Given the description of an element on the screen output the (x, y) to click on. 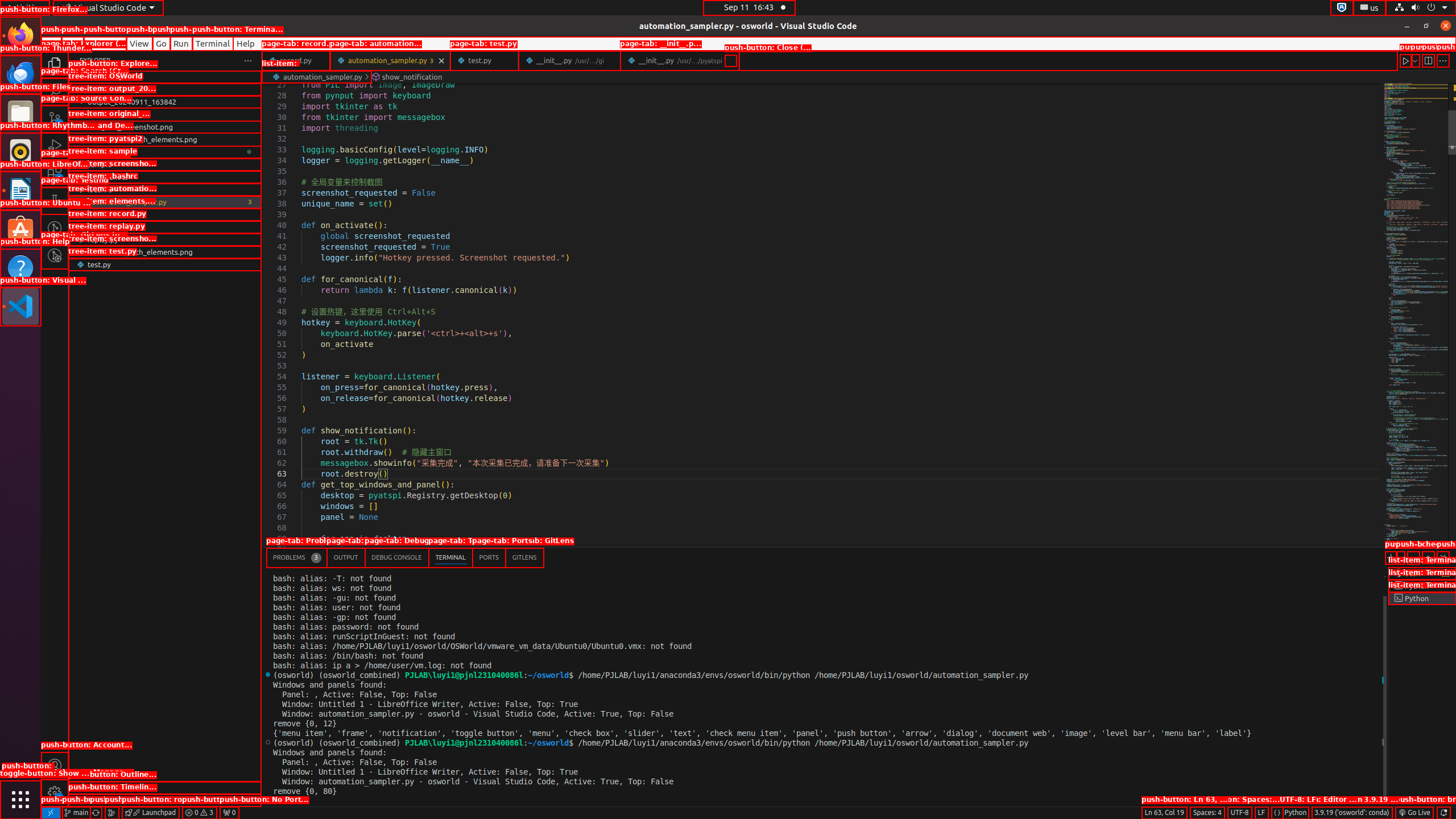
Explorer (Ctrl+Shift+E) Element type: page-tab (54, 63)
original_screenshot.png Element type: tree-item (164, 126)
Views and More Actions... Element type: push-button (1413, 557)
LF Element type: push-button (1261, 812)
